Given the description of an element on the screen output the (x, y) to click on. 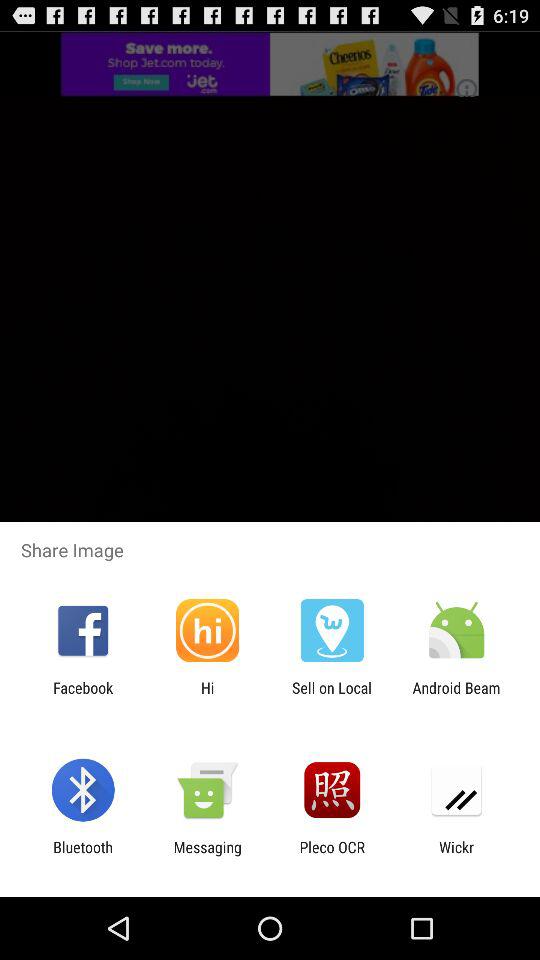
choose icon to the right of the hi icon (332, 696)
